Given the description of an element on the screen output the (x, y) to click on. 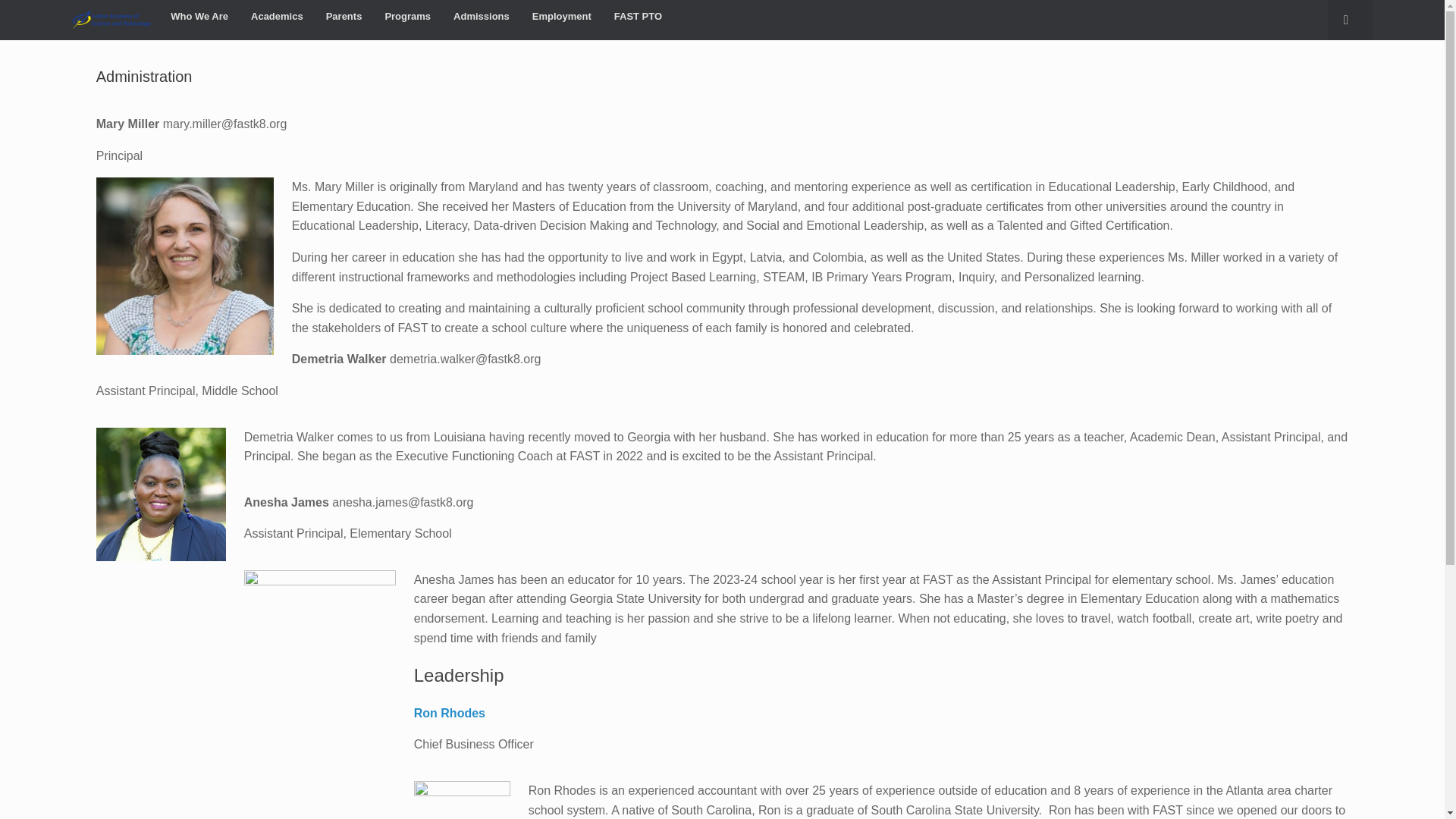
Who We Are (199, 16)
Fulton Academy of Science and Technology (111, 20)
Academics (277, 16)
